Given the description of an element on the screen output the (x, y) to click on. 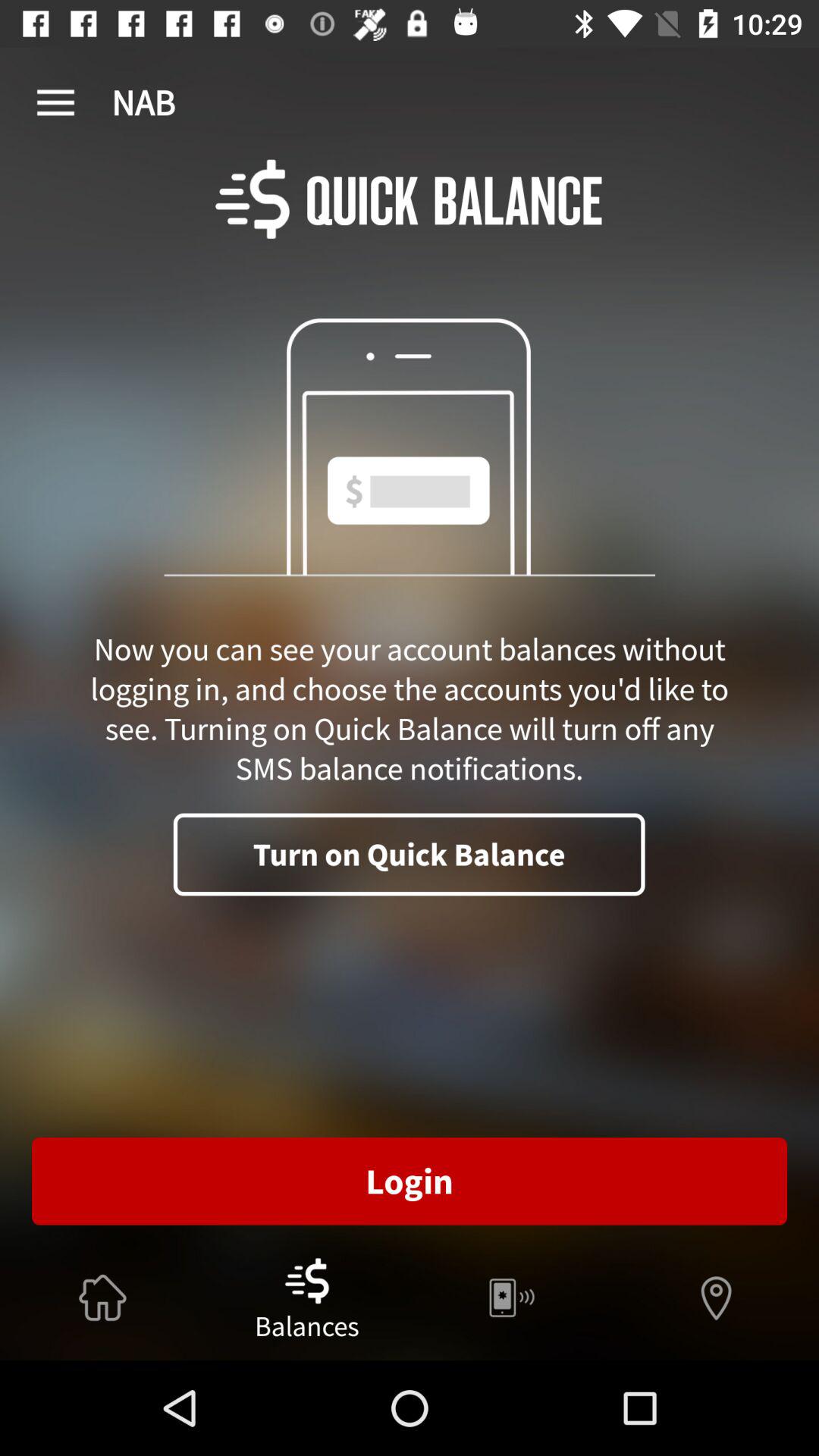
click on the login button (409, 1181)
choose the logo right to quick balance (252, 198)
click on button which is right to balances (512, 1298)
